Given the description of an element on the screen output the (x, y) to click on. 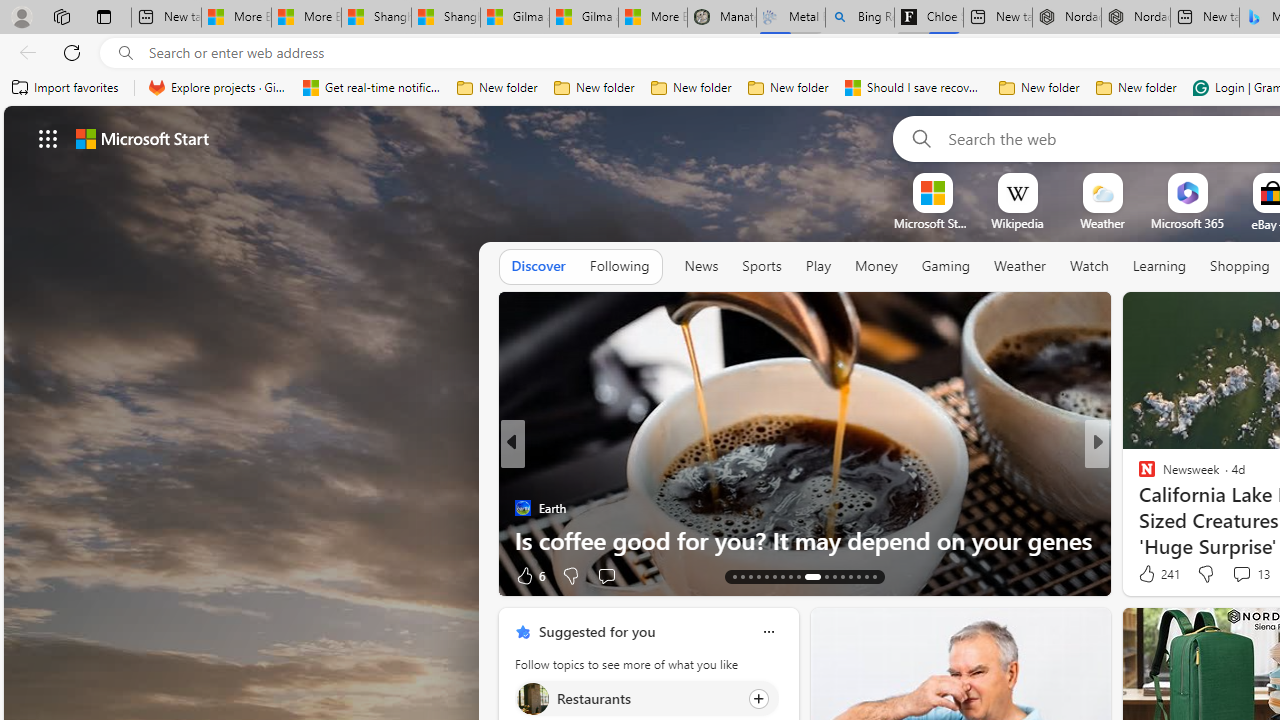
Class: control (47, 138)
Forge of Empires (1175, 507)
AutomationID: tab-27 (857, 576)
Discover (538, 265)
Shopping (1240, 265)
Discover (538, 267)
AutomationID: tab-29 (874, 576)
News (701, 265)
View comments 13 Comment (1249, 574)
